Given the description of an element on the screen output the (x, y) to click on. 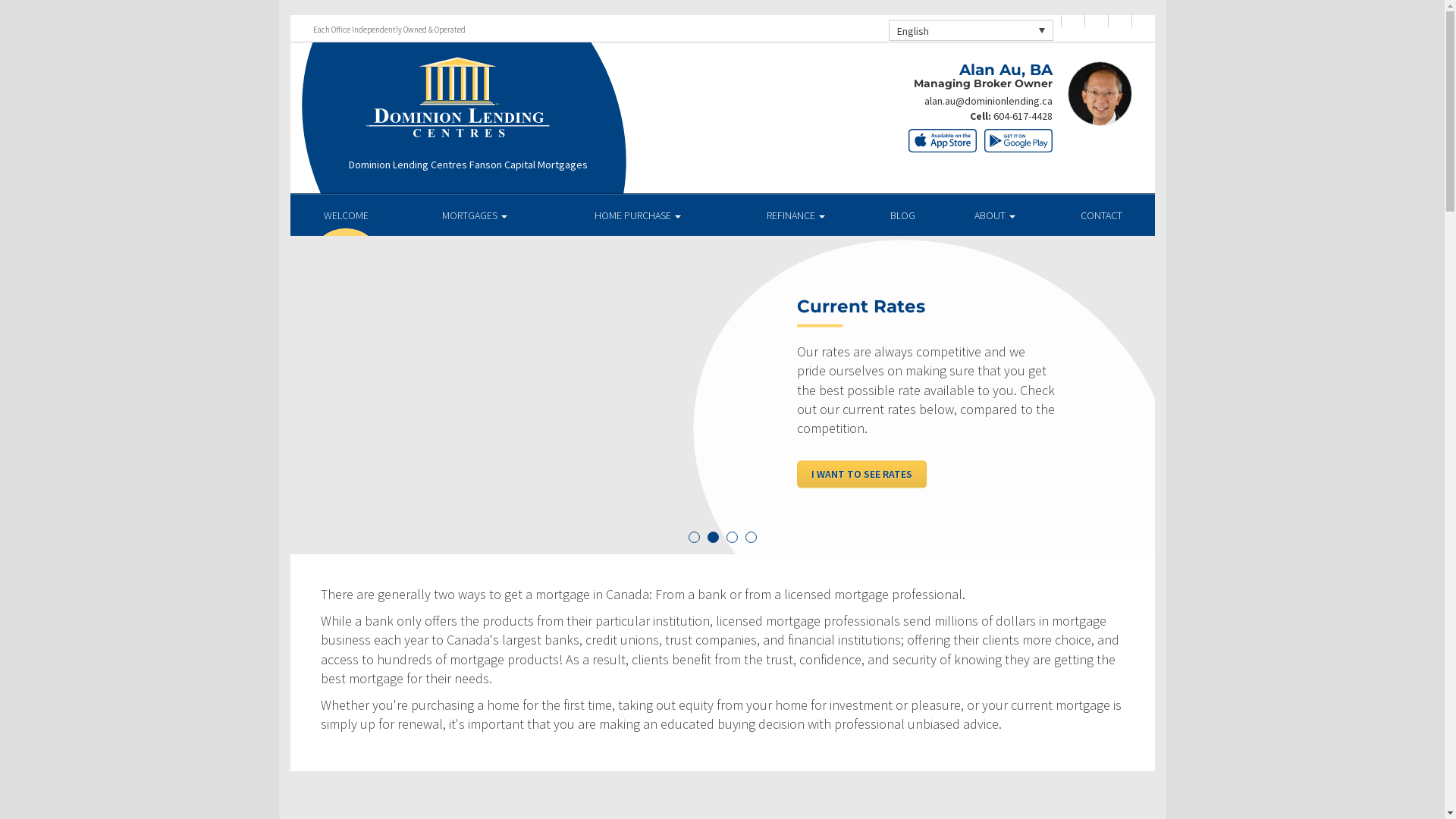
604-617-4428 Element type: text (1022, 115)
WELCOME Element type: text (345, 214)
HOME PURCHASE Element type: text (637, 214)
BLOG Element type: text (901, 214)
CONTACT Element type: text (1101, 214)
I WANT TO SEE RATES Element type: text (861, 473)
MORTGAGES Element type: text (474, 214)
ABOUT Element type: text (994, 214)
alan.au@dominionlending.ca Element type: text (987, 100)
REFINANCE Element type: text (795, 214)
English Element type: text (970, 29)
